Given the description of an element on the screen output the (x, y) to click on. 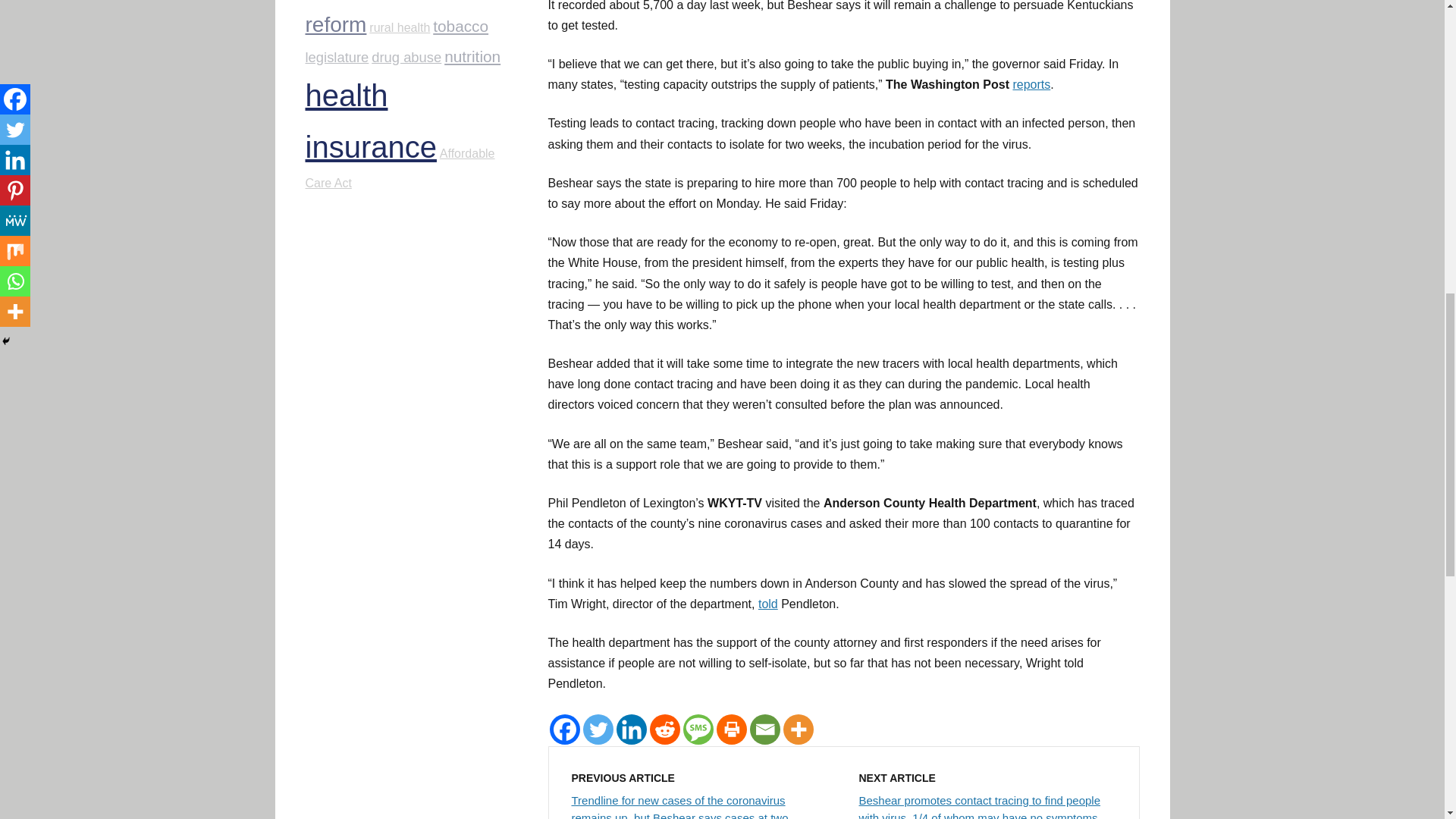
reports (1030, 83)
Print (730, 729)
SMS (697, 729)
Reddit (664, 729)
Linkedin (630, 729)
told (767, 603)
Twitter (597, 729)
Email (763, 729)
More (797, 729)
Facebook (563, 729)
